Given the description of an element on the screen output the (x, y) to click on. 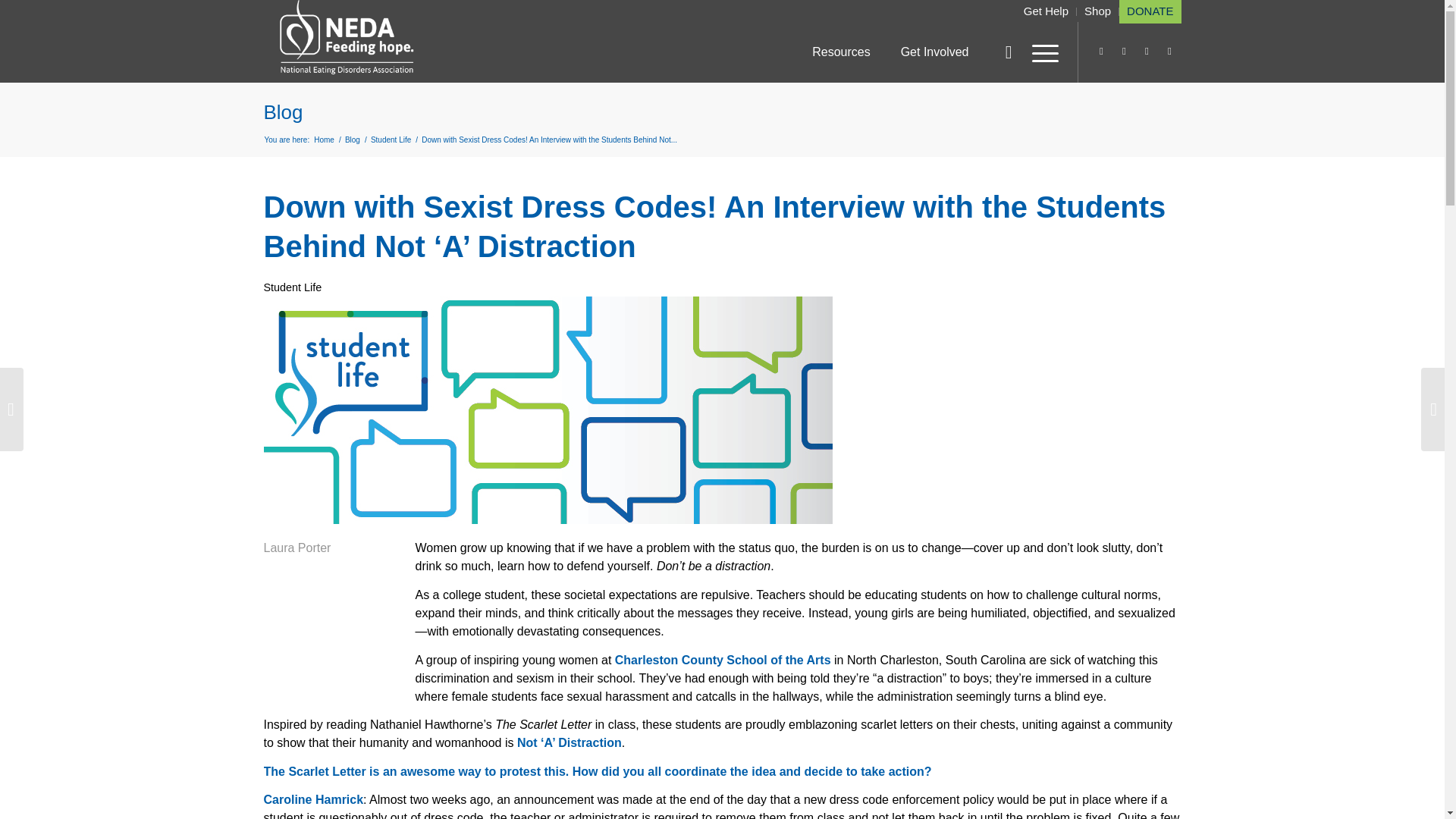
Student Life (390, 139)
DONATE (1149, 11)
Resources (840, 51)
Home (323, 139)
Blog (352, 139)
Facebook (1169, 51)
NEDA logo Feeding Hope click to go to homepage. (346, 37)
Instagram (1101, 51)
Blog (282, 111)
National Eating Disorders Association (323, 139)
